Given the description of an element on the screen output the (x, y) to click on. 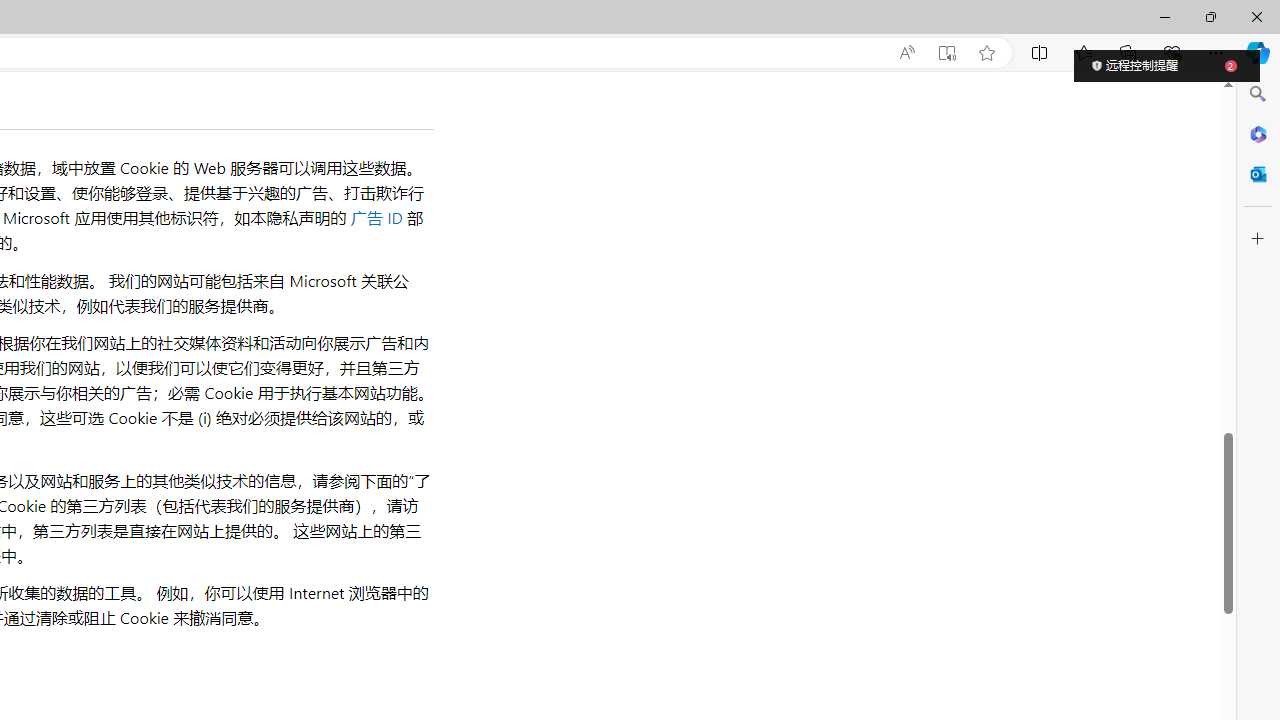
Customize (1258, 239)
Outlook (1258, 174)
